Given the description of an element on the screen output the (x, y) to click on. 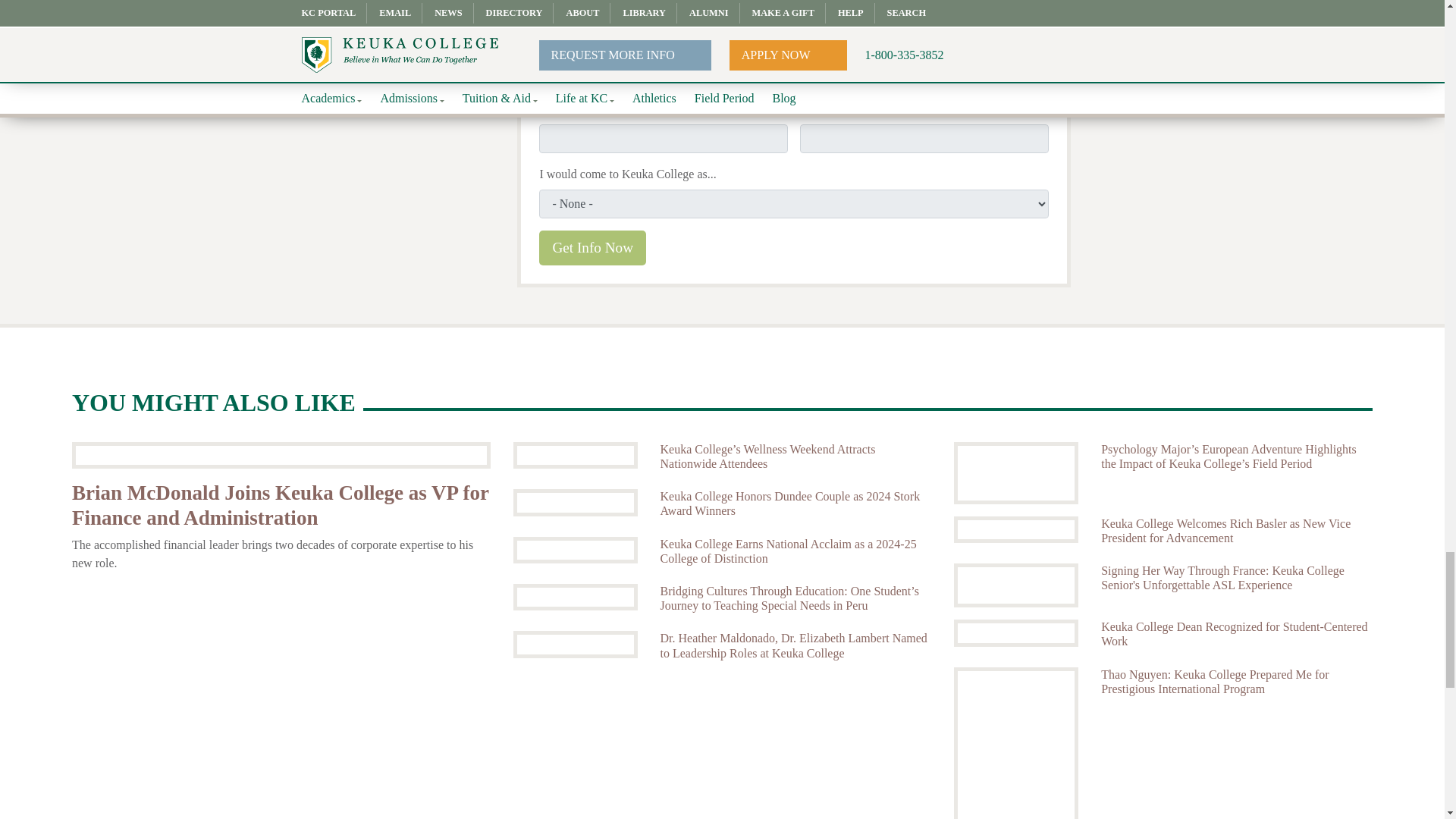
Get Info Now (592, 248)
Keuka College Dean Recognized for Student-Centered Work (1015, 632)
Keuka College Dean Recognized for Student-Centered Work (1236, 633)
